Given the description of an element on the screen output the (x, y) to click on. 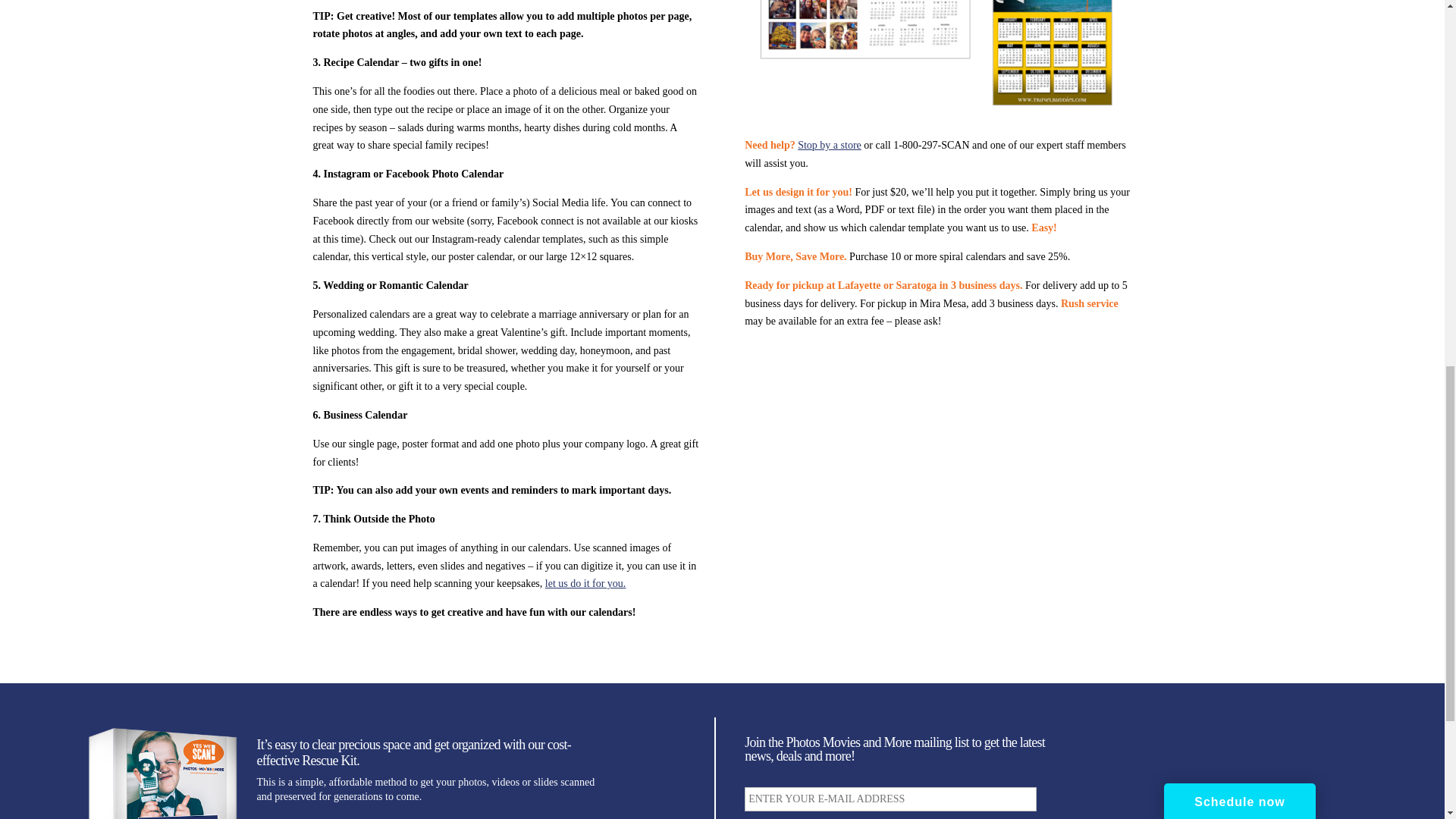
let us do it for you. (585, 583)
Stop by a store (829, 144)
